Given the description of an element on the screen output the (x, y) to click on. 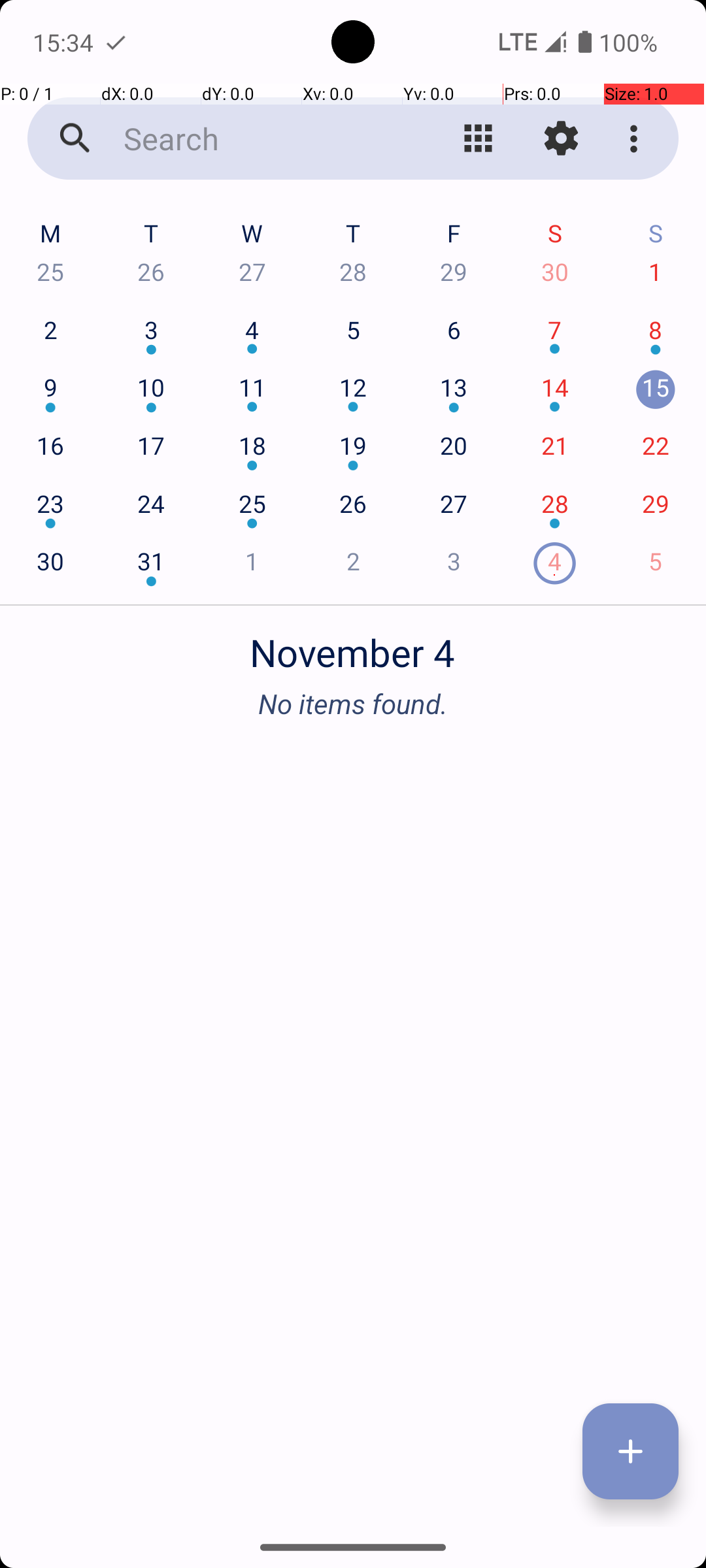
November 4 Element type: android.widget.TextView (352, 644)
